Given the description of an element on the screen output the (x, y) to click on. 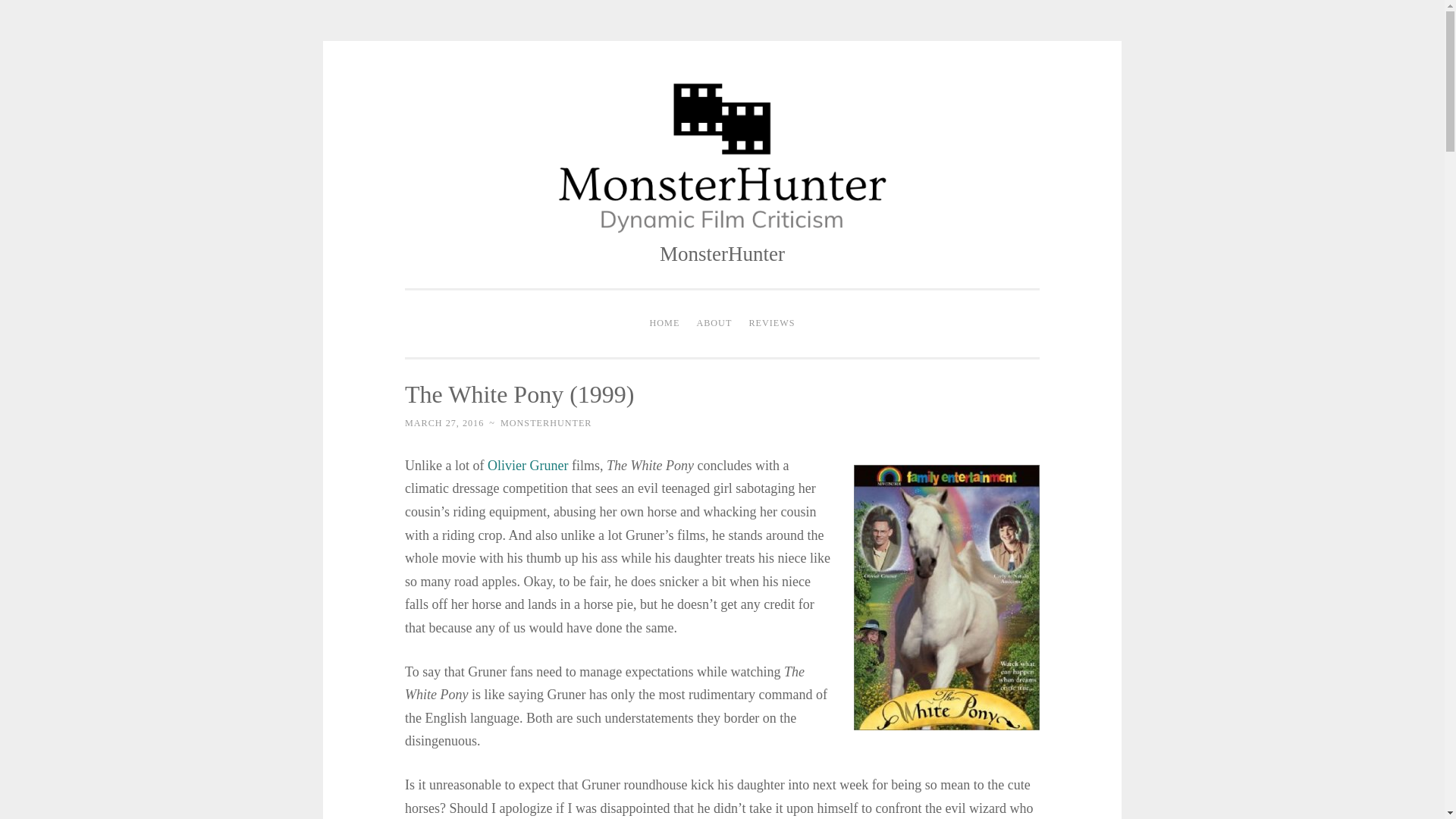
MONSTERHUNTER (546, 422)
Olivier Gruner (527, 465)
ABOUT (713, 323)
MonsterHunter (721, 253)
Search (22, 9)
MARCH 27, 2016 (443, 422)
REVIEWS (771, 323)
HOME (665, 323)
